Given the description of an element on the screen output the (x, y) to click on. 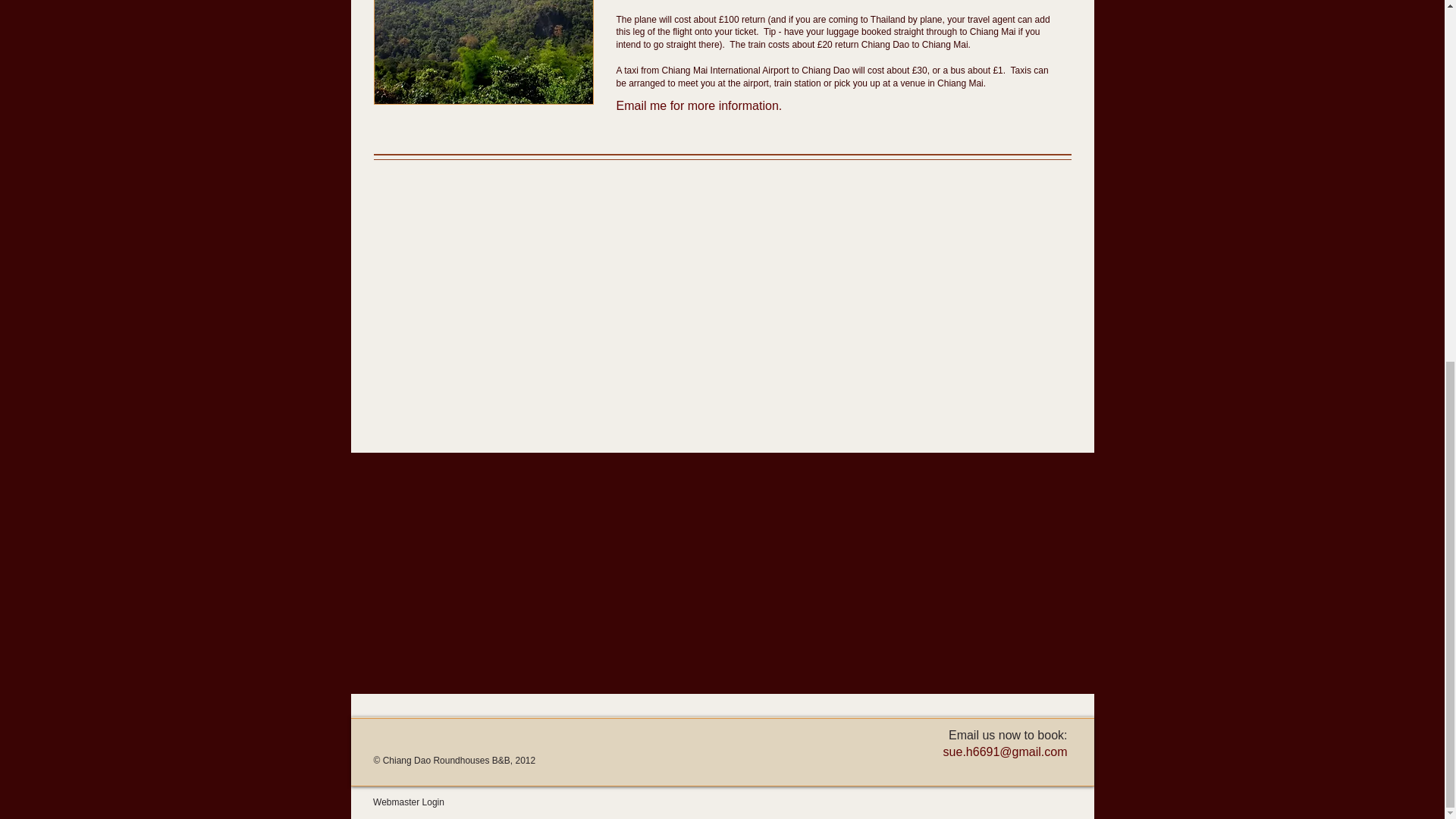
Webmaster Login (408, 801)
